Given the description of an element on the screen output the (x, y) to click on. 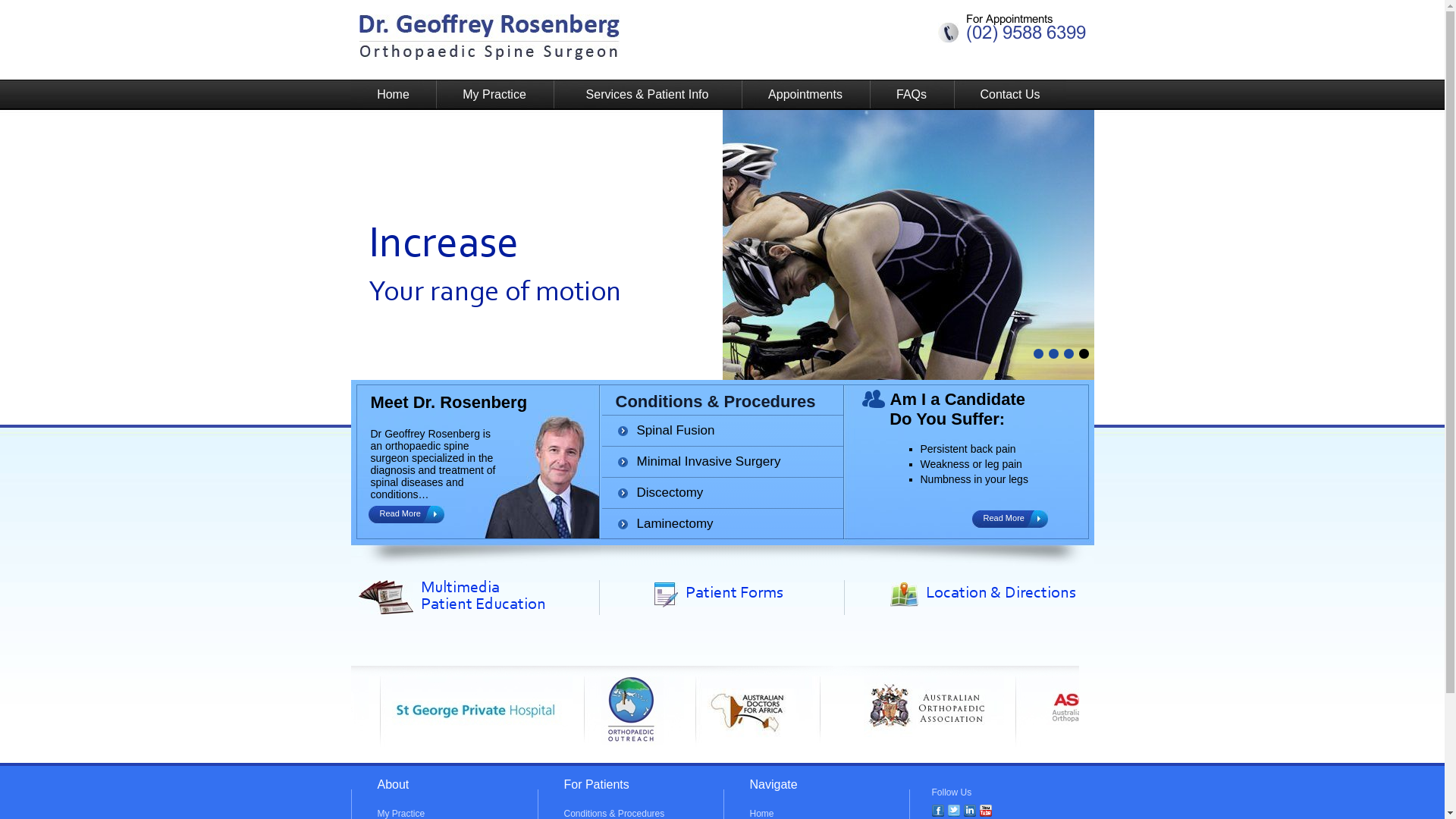
Am I a Candidate
      Do You Suffer: Element type: text (942, 408)
Location & Directions Element type: text (1000, 593)
Contact Us Element type: text (1009, 94)
Home Element type: text (392, 94)
Conditions & Procedures Element type: text (715, 401)
FAQs Element type: text (911, 94)
Minimal Invasive Surgery Element type: text (709, 461)
Spinal Fusion Element type: text (676, 430)
Laminectomy Element type: text (675, 523)
Multimedia
Patient Education Element type: text (482, 596)
My Practice Element type: text (493, 94)
Discectomy Element type: text (670, 492)
Services & Patient Info Element type: text (647, 94)
Meet Dr. Rosenberg Element type: text (448, 401)
For Appointments
(02) 9588 6399 Element type: text (1025, 28)
Appointments Element type: text (805, 94)
Read More Element type: text (1002, 517)
Patient Forms Element type: text (734, 593)
Read More Element type: text (399, 512)
